Given the description of an element on the screen output the (x, y) to click on. 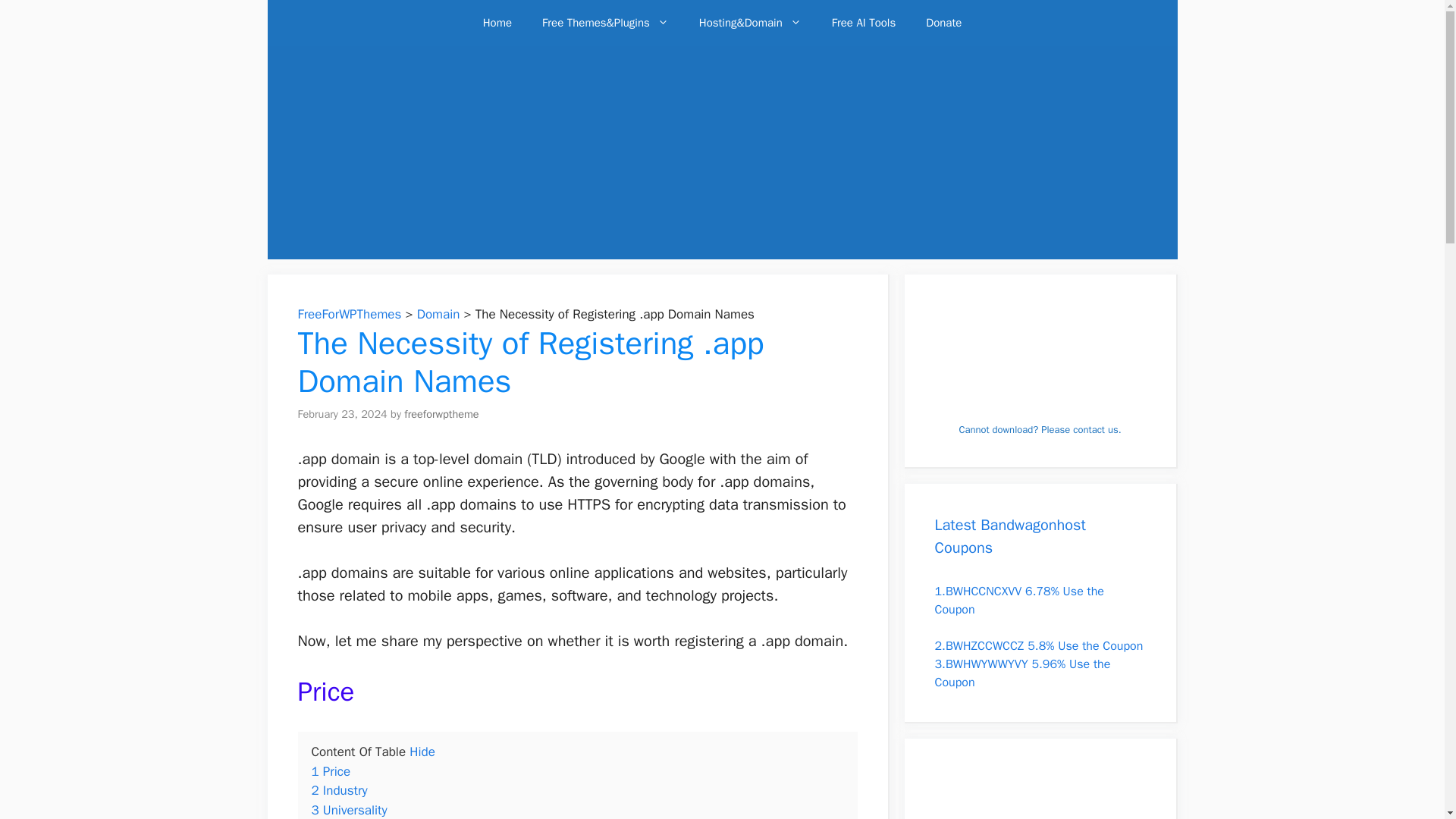
FreeForWPThemes (349, 314)
3 Universality (349, 810)
View all posts by freeforwptheme (441, 413)
Go to the Domain Category archives. (438, 314)
Free AI Tools (863, 22)
Hide (422, 751)
Go to FreeForWPThemes. (349, 314)
Domain (438, 314)
Donate (943, 22)
freeforwptheme (441, 413)
Home (497, 22)
2 Industry (338, 790)
1 Price (330, 771)
